Given the description of an element on the screen output the (x, y) to click on. 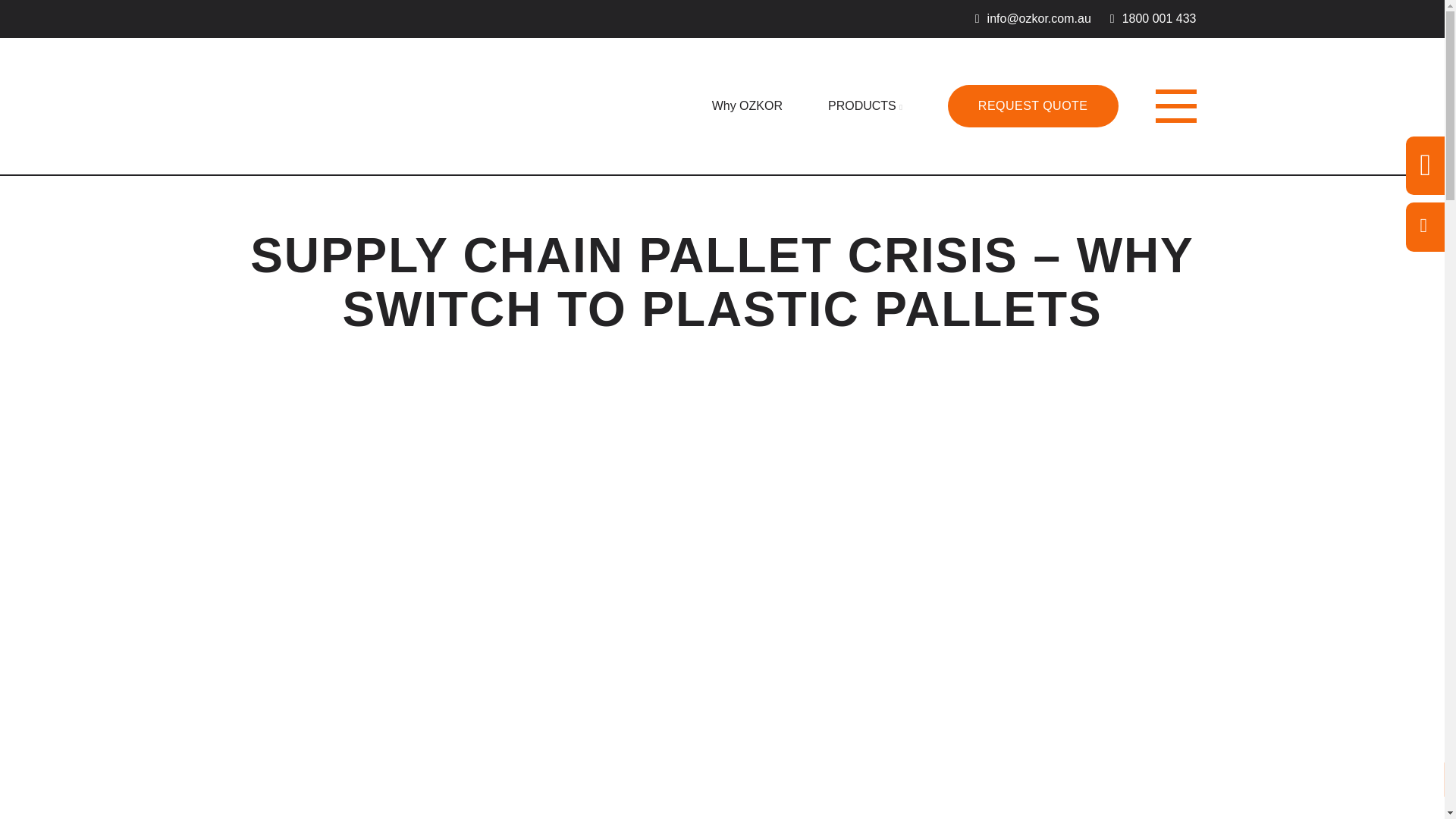
REQUEST QUOTE (1032, 106)
1800 001 433 (1152, 18)
Why OZKOR (747, 105)
PRODUCTS (865, 105)
